Given the description of an element on the screen output the (x, y) to click on. 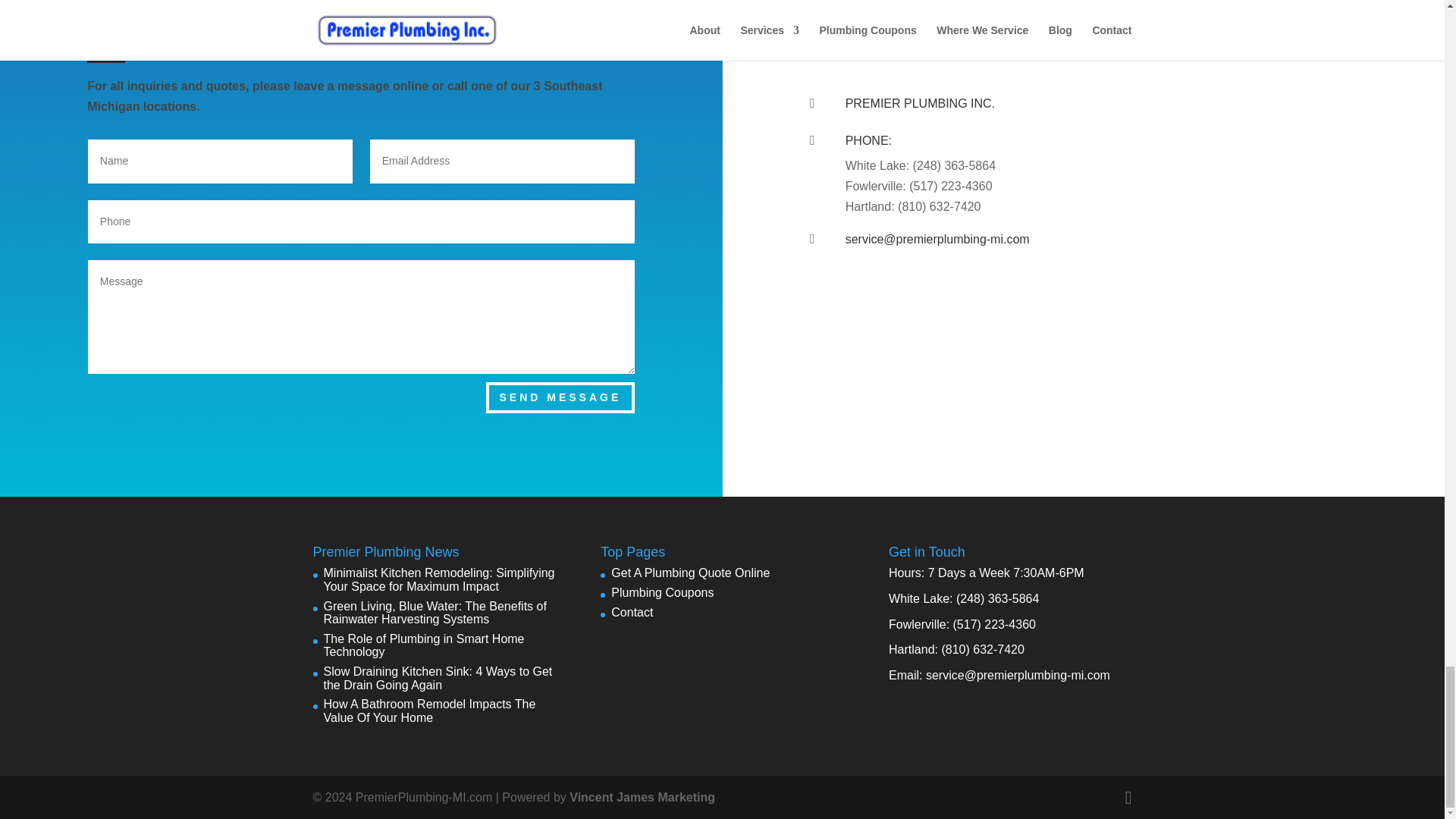
Only numbers allowed. (360, 221)
